Given the description of an element on the screen output the (x, y) to click on. 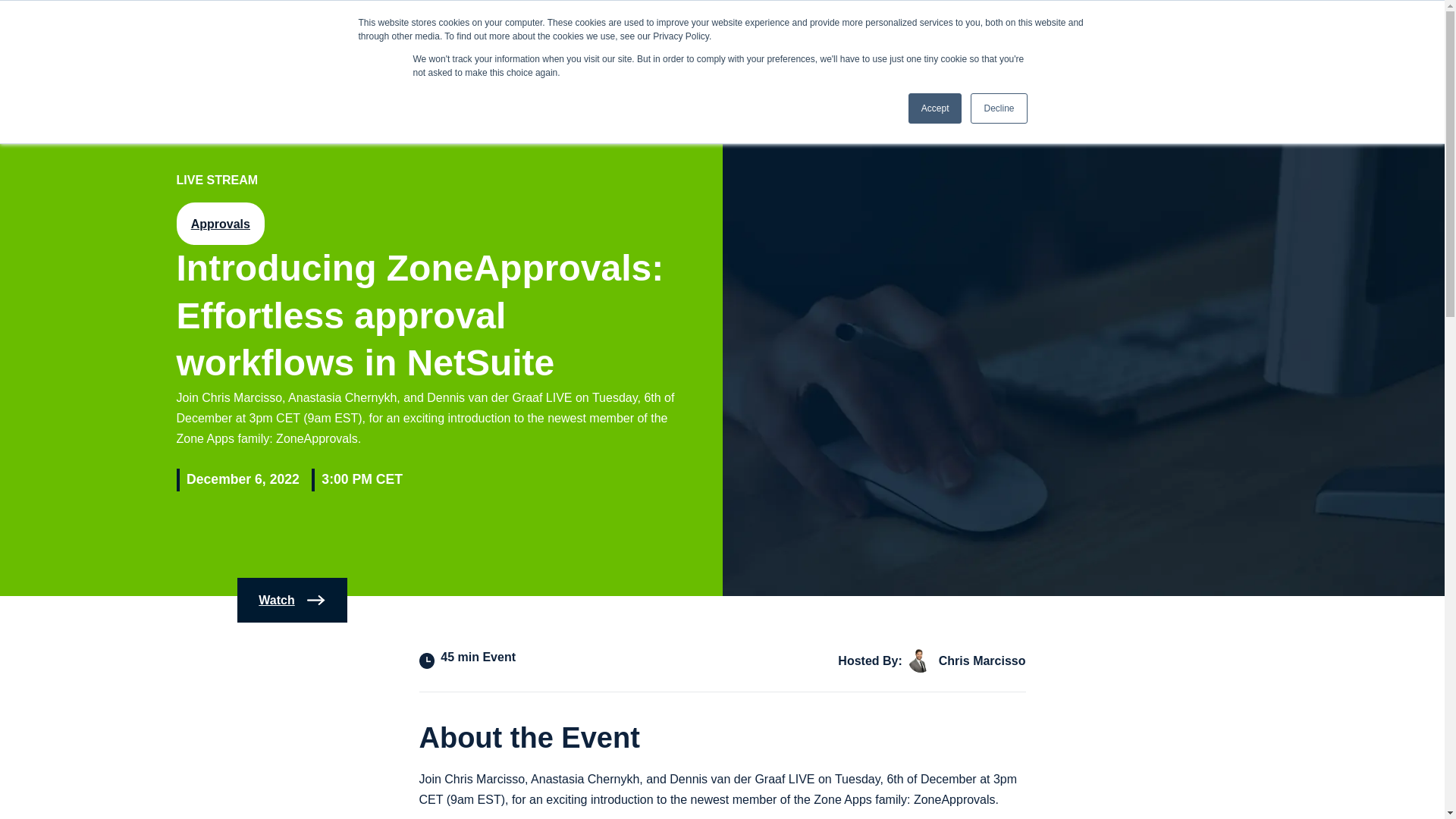
Accept (935, 108)
Newsroom (1109, 26)
Support (1179, 26)
Decline (998, 108)
